Given the description of an element on the screen output the (x, y) to click on. 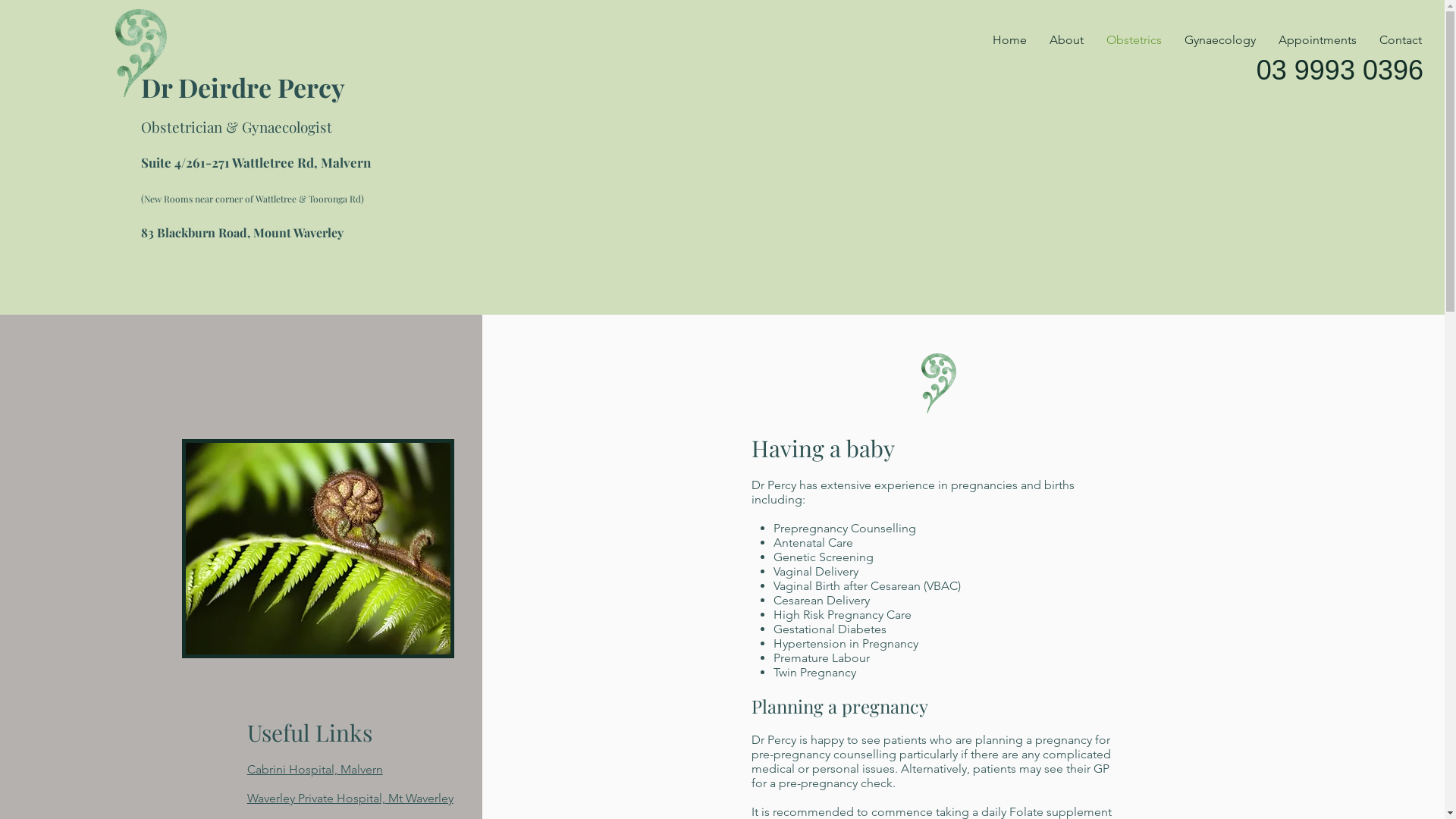
About Element type: text (1066, 39)
Obstetrics Element type: text (1134, 39)
Cabrini Hospital, Malvern Element type: text (314, 769)
Home Element type: text (1009, 39)
Appointments Element type: text (1317, 39)
Contact Element type: text (1400, 39)
Waverley Private Hospital, Mt Waverley Element type: text (350, 797)
Gynaecology Element type: text (1220, 39)
